Given the description of an element on the screen output the (x, y) to click on. 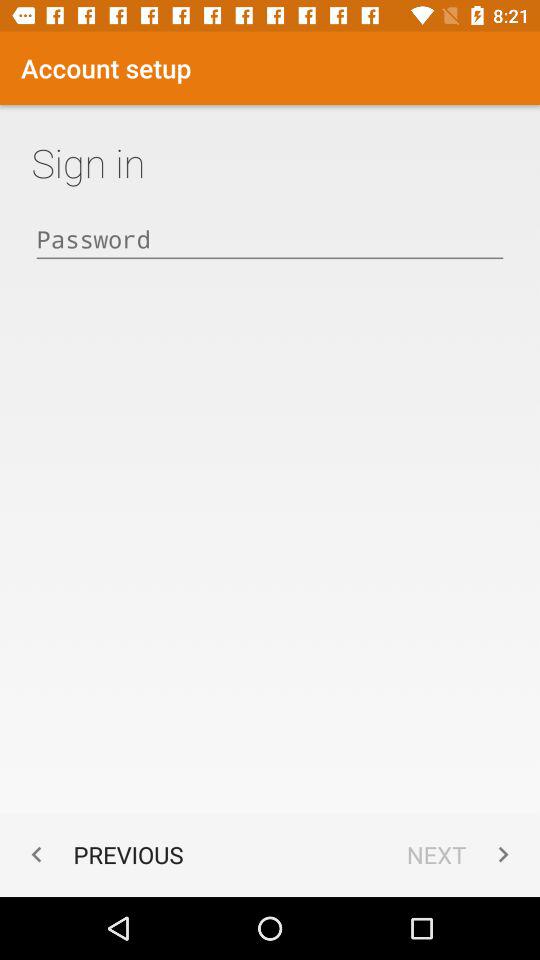
turn off the item to the right of the previous icon (462, 854)
